Given the description of an element on the screen output the (x, y) to click on. 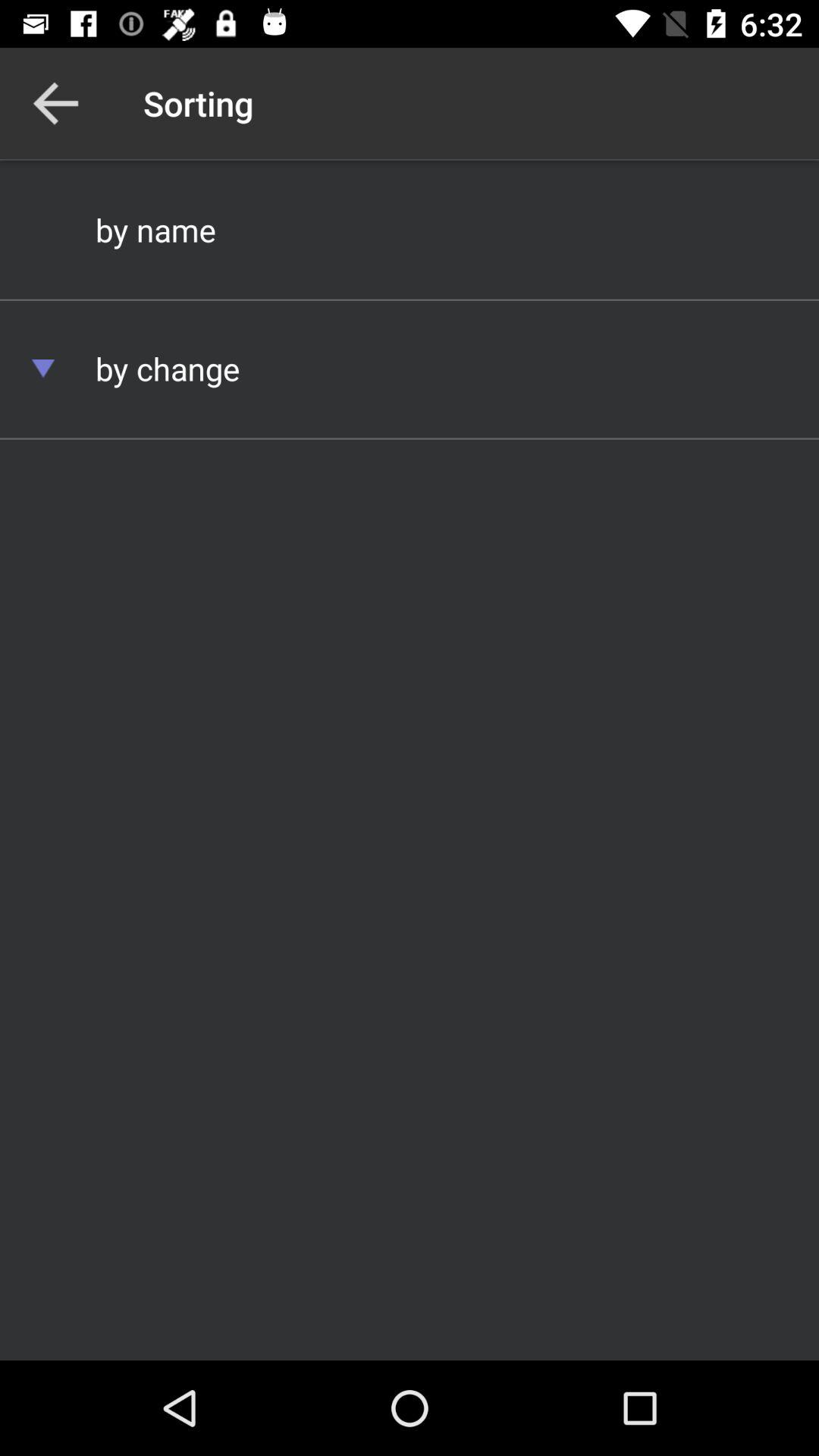
click by name icon (409, 229)
